Given the description of an element on the screen output the (x, y) to click on. 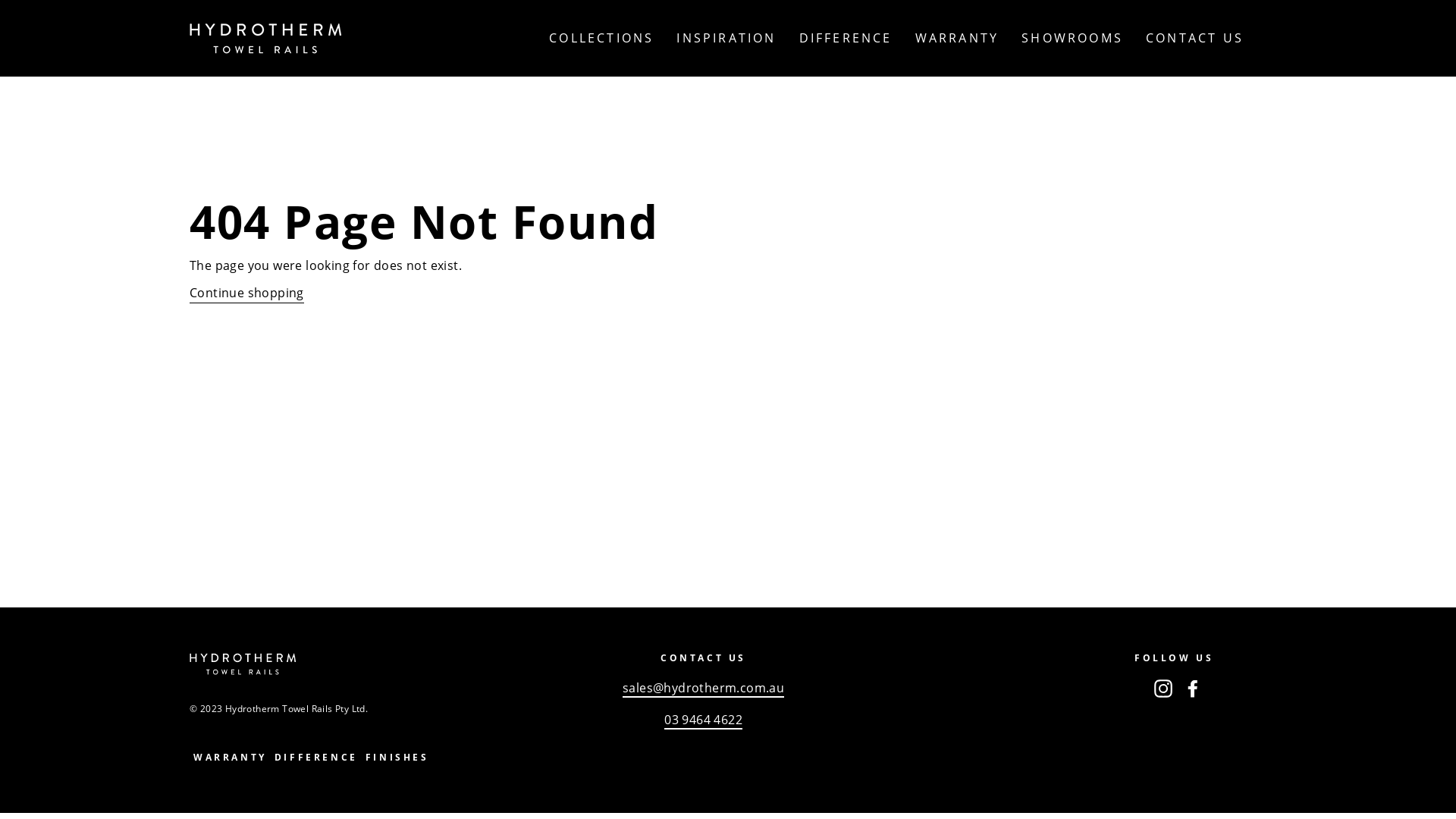
DIFFERENCE Element type: text (315, 757)
FINISHES Element type: text (397, 757)
Continue shopping Element type: text (246, 293)
COLLECTIONS Element type: text (601, 37)
WARRANTY Element type: text (956, 37)
Facebook Element type: text (1192, 687)
WARRANTY Element type: text (229, 757)
Instagram Element type: text (1163, 687)
03 9464 4622 Element type: text (703, 720)
DIFFERENCE Element type: text (845, 37)
CONTACT US Element type: text (1194, 37)
Skip to content Element type: text (0, 0)
sales@hydrotherm.com.au Element type: text (703, 688)
SHOWROOMS Element type: text (1072, 37)
INSPIRATION Element type: text (726, 37)
